Given the description of an element on the screen output the (x, y) to click on. 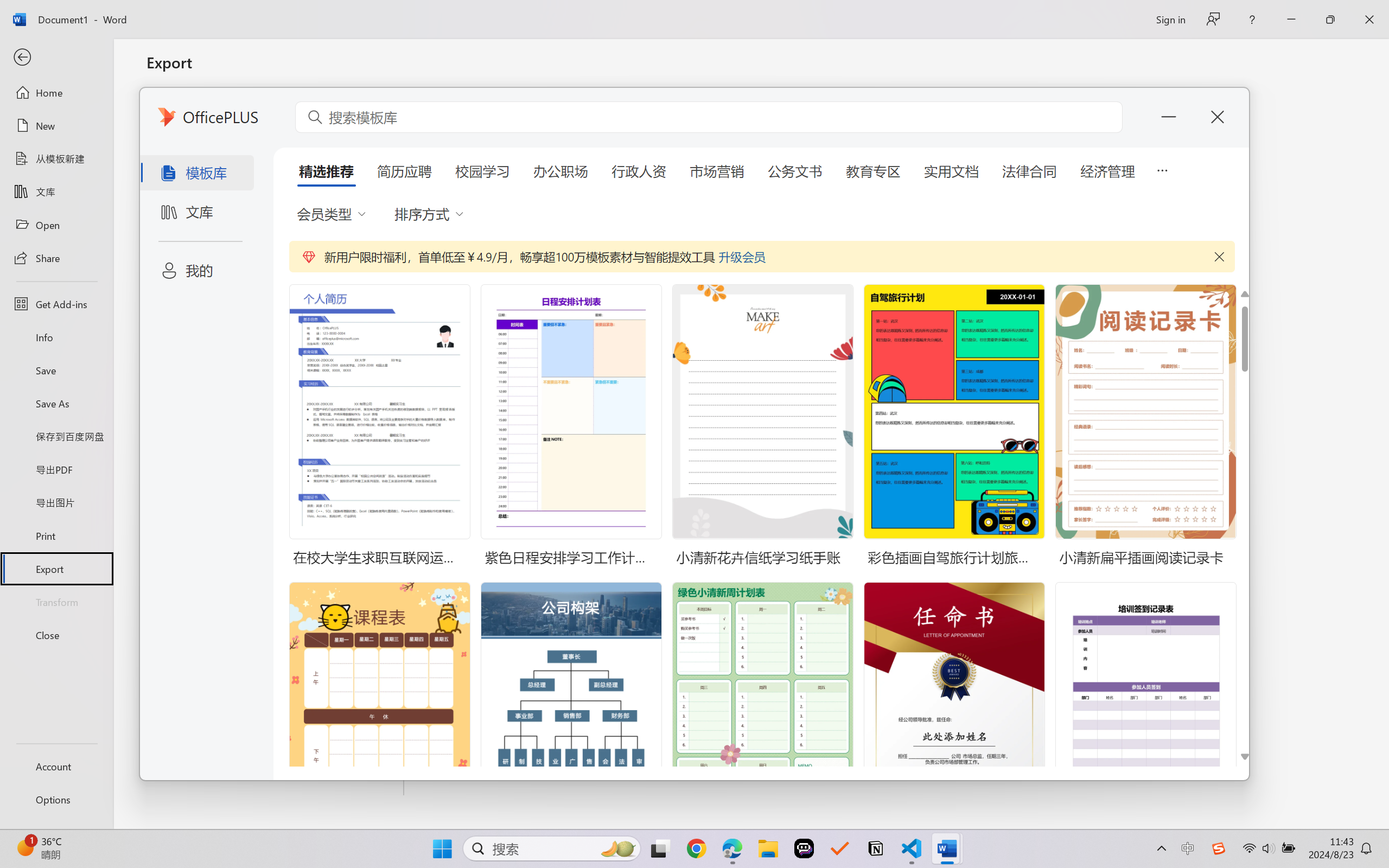
Get Add-ins (56, 303)
